Given the description of an element on the screen output the (x, y) to click on. 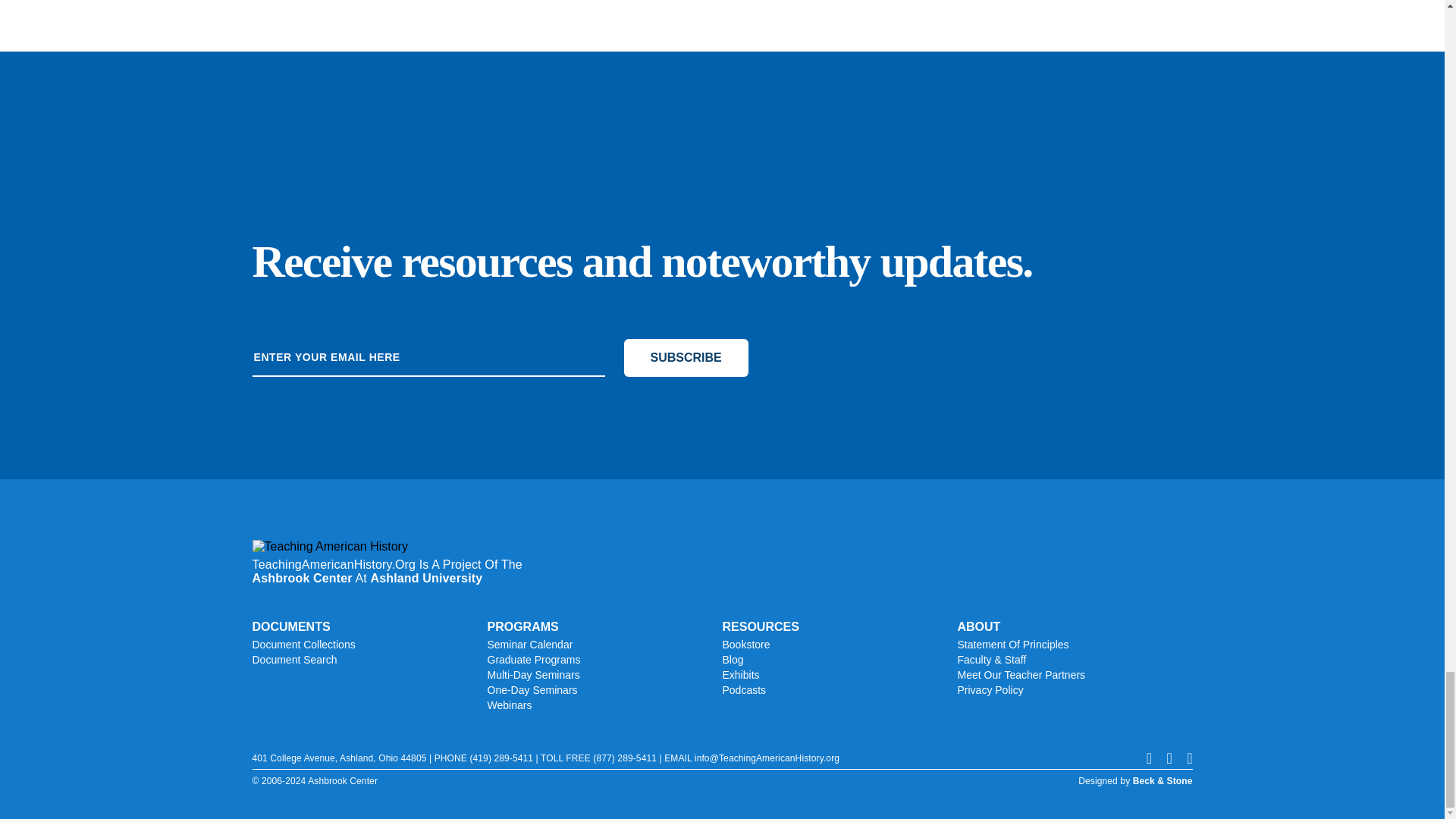
Graduate Programs (604, 659)
RESOURCES (839, 626)
Ashland University (425, 577)
Multi-Day Seminars (604, 674)
SUBSCRIBE (685, 357)
ABOUT (1074, 626)
Bookstore (839, 644)
Document Collections (368, 644)
Podcasts (839, 689)
Webinars (604, 704)
Blog (839, 659)
One-Day Seminars (604, 689)
Exhibits (839, 674)
DOCUMENTS (368, 626)
Seminar Calendar (604, 644)
